Given the description of an element on the screen output the (x, y) to click on. 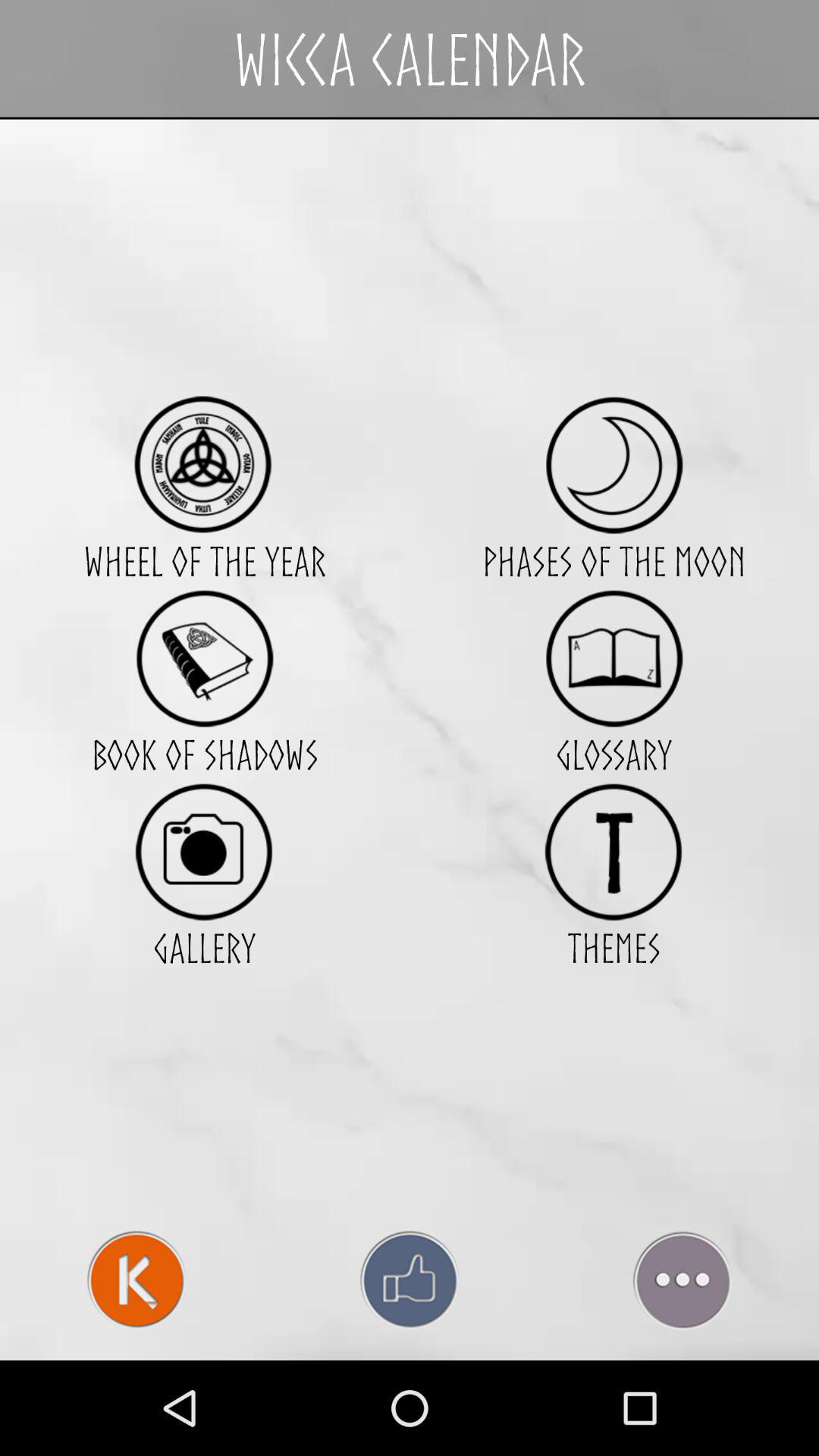
open themes (613, 851)
